Given the description of an element on the screen output the (x, y) to click on. 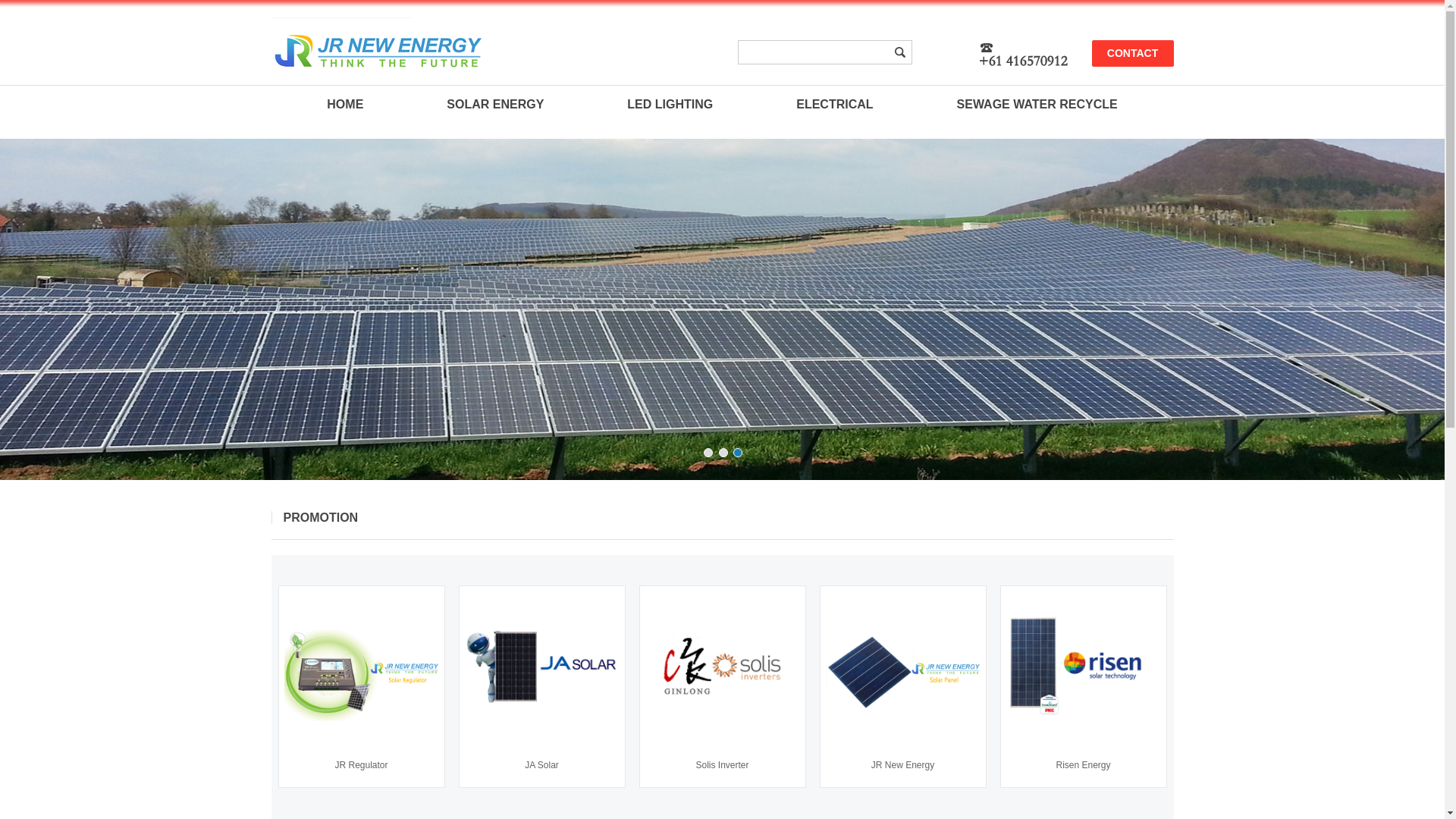
1 Element type: text (707, 452)
3 Element type: text (737, 452)
Solis Inverter Element type: text (722, 763)
CONTACT Element type: text (1132, 53)
HOME Element type: text (344, 104)
JR New Energy Element type: text (902, 763)
Risen Energy Element type: text (1083, 763)
ELECTRICAL Element type: text (834, 104)
SOLAR ENERGY Element type: text (494, 104)
JA Solar Element type: text (541, 763)
2 Element type: text (723, 452)
JR Regulator Element type: text (361, 763)
LED LIGHTING Element type: text (669, 104)
SEWAGE WATER RECYCLE Element type: text (1037, 104)
